Given the description of an element on the screen output the (x, y) to click on. 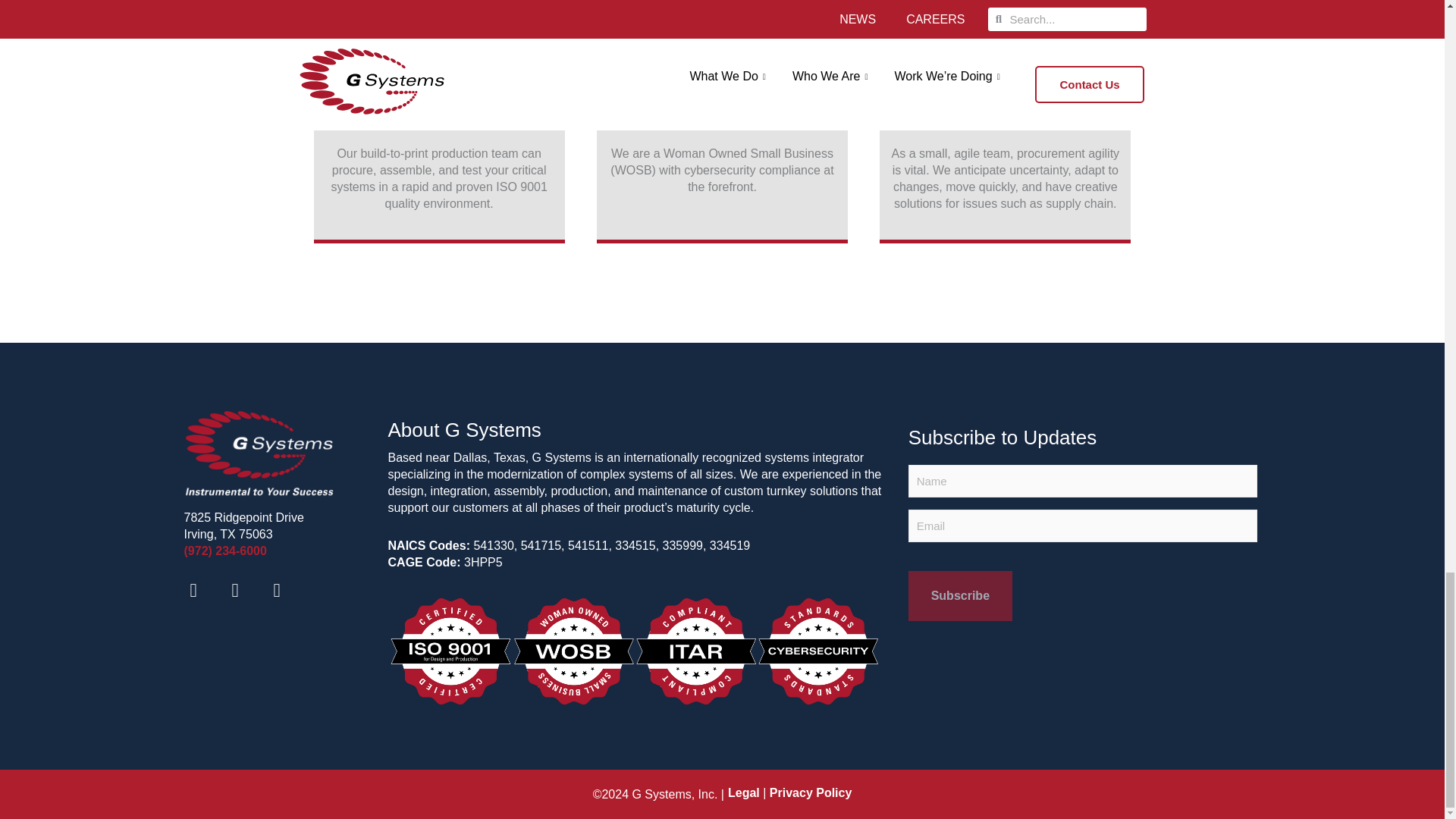
Subscribe (959, 595)
